Given the description of an element on the screen output the (x, y) to click on. 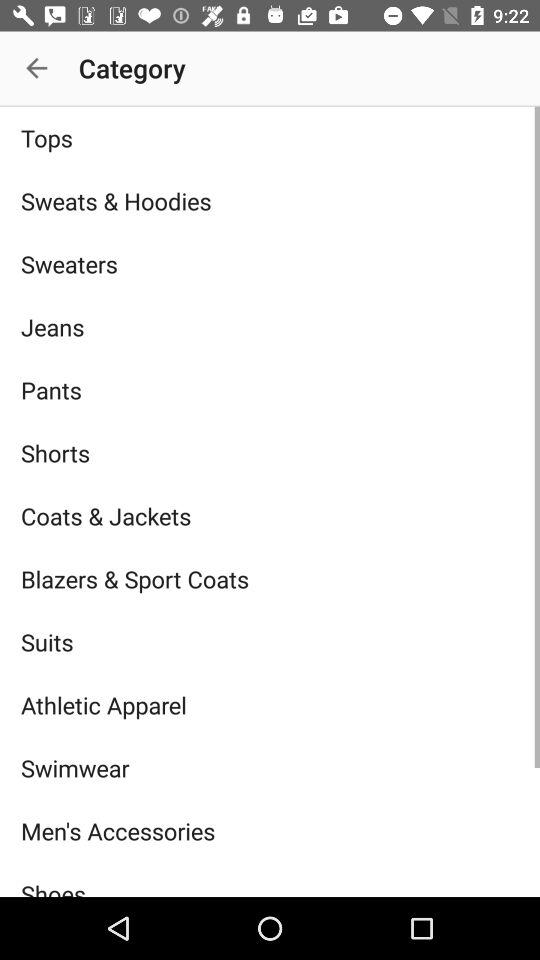
open item below the men's accessories item (270, 879)
